Given the description of an element on the screen output the (x, y) to click on. 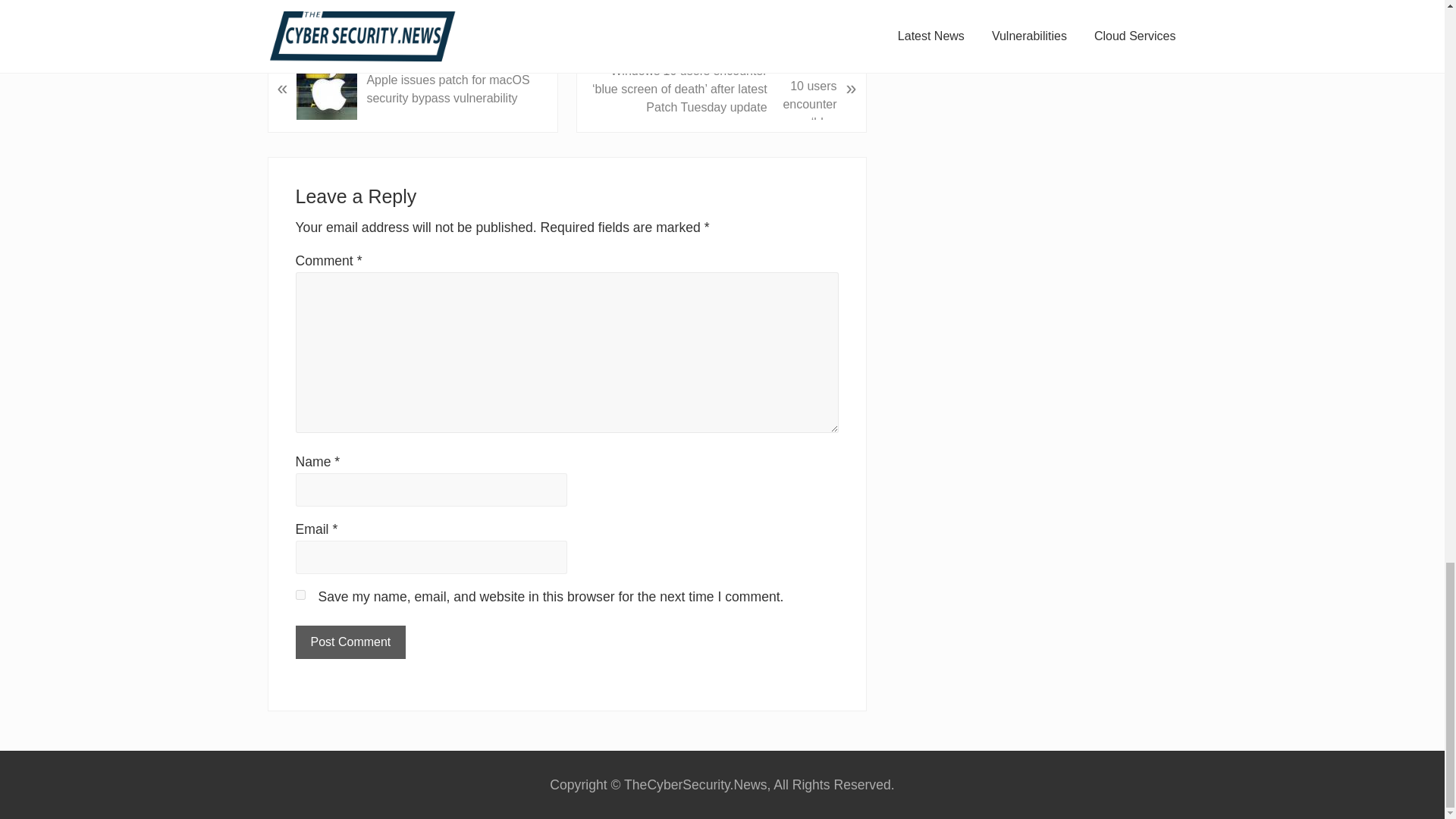
Post Comment (350, 642)
Post Comment (350, 642)
yes (300, 594)
